Given the description of an element on the screen output the (x, y) to click on. 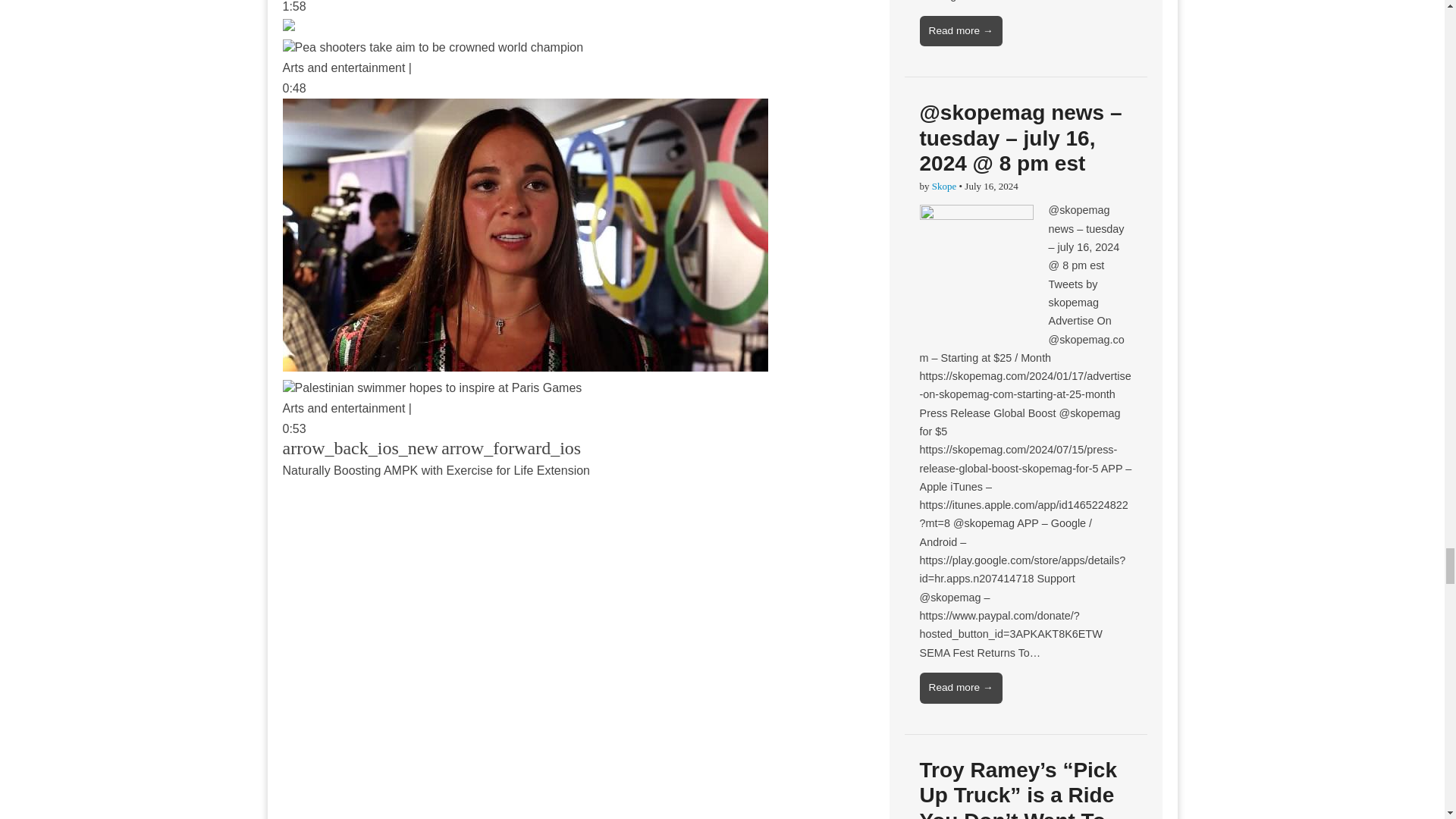
Posts by Skope (943, 185)
